Given the description of an element on the screen output the (x, y) to click on. 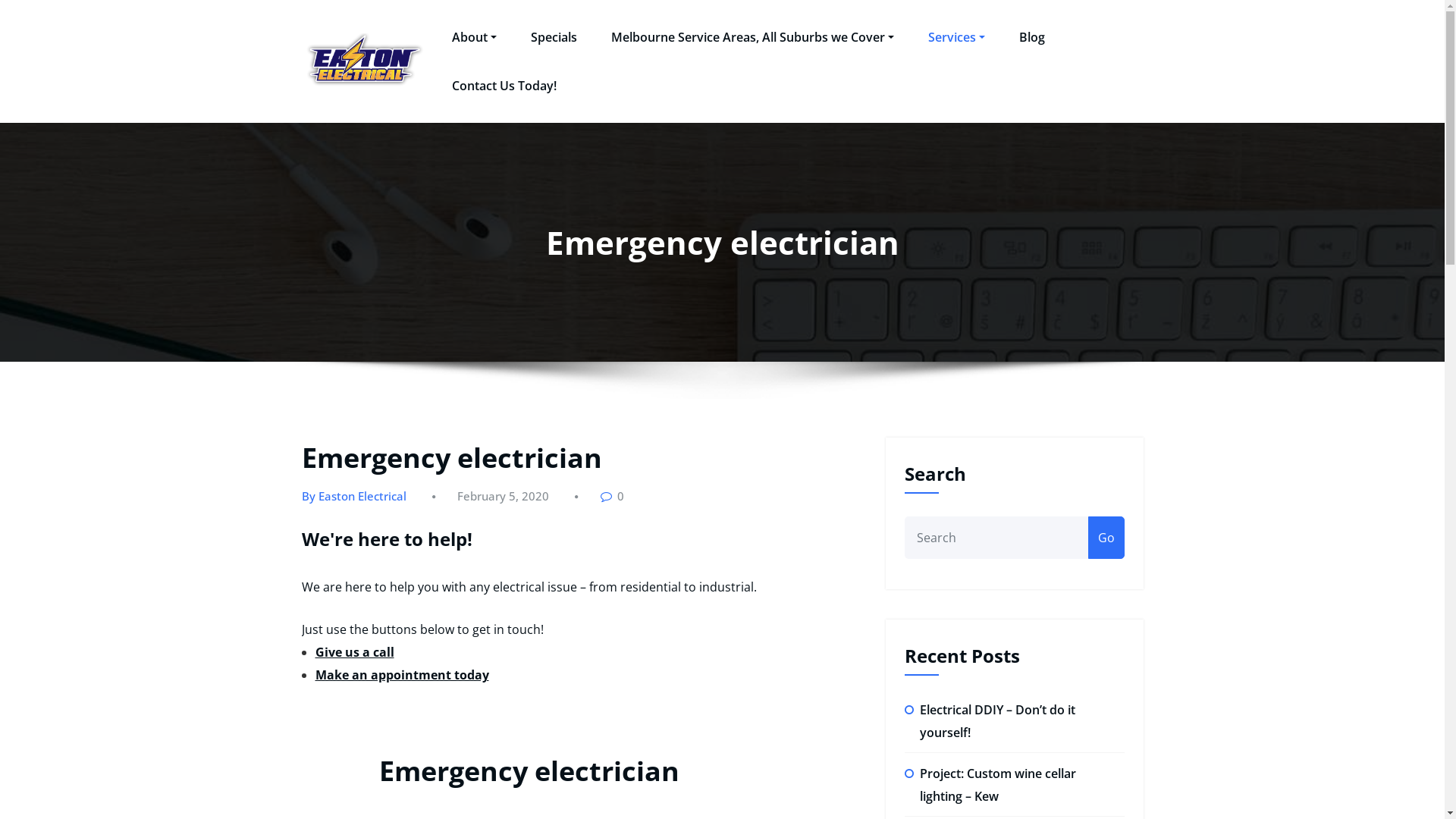
Services Element type: text (956, 37)
Melbourne Service Areas, All Suburbs we Cover Element type: text (752, 37)
Make an appointment today Element type: text (402, 674)
0 Element type: text (611, 495)
By Easton Electrical Element type: text (353, 495)
Go Element type: text (1105, 537)
February 5, 2020 Element type: text (502, 495)
Give us a call Element type: text (354, 651)
About Element type: text (473, 37)
Blog Element type: text (1031, 37)
Contact Us Today! Element type: text (503, 86)
Specials Element type: text (553, 37)
Melbourne Electrician Services Victoria Element type: text (650, 75)
